Given the description of an element on the screen output the (x, y) to click on. 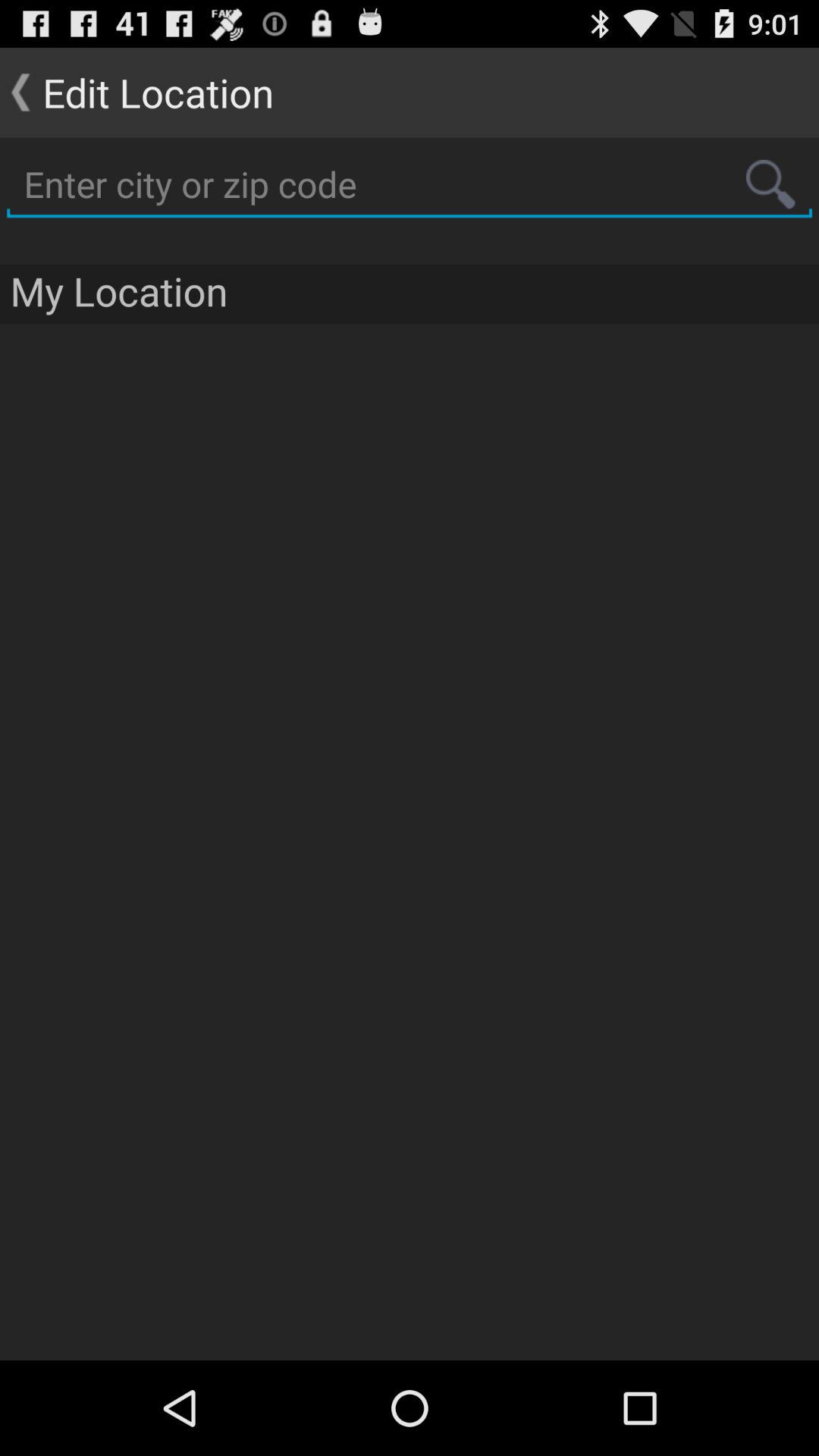
select location box (409, 184)
